Given the description of an element on the screen output the (x, y) to click on. 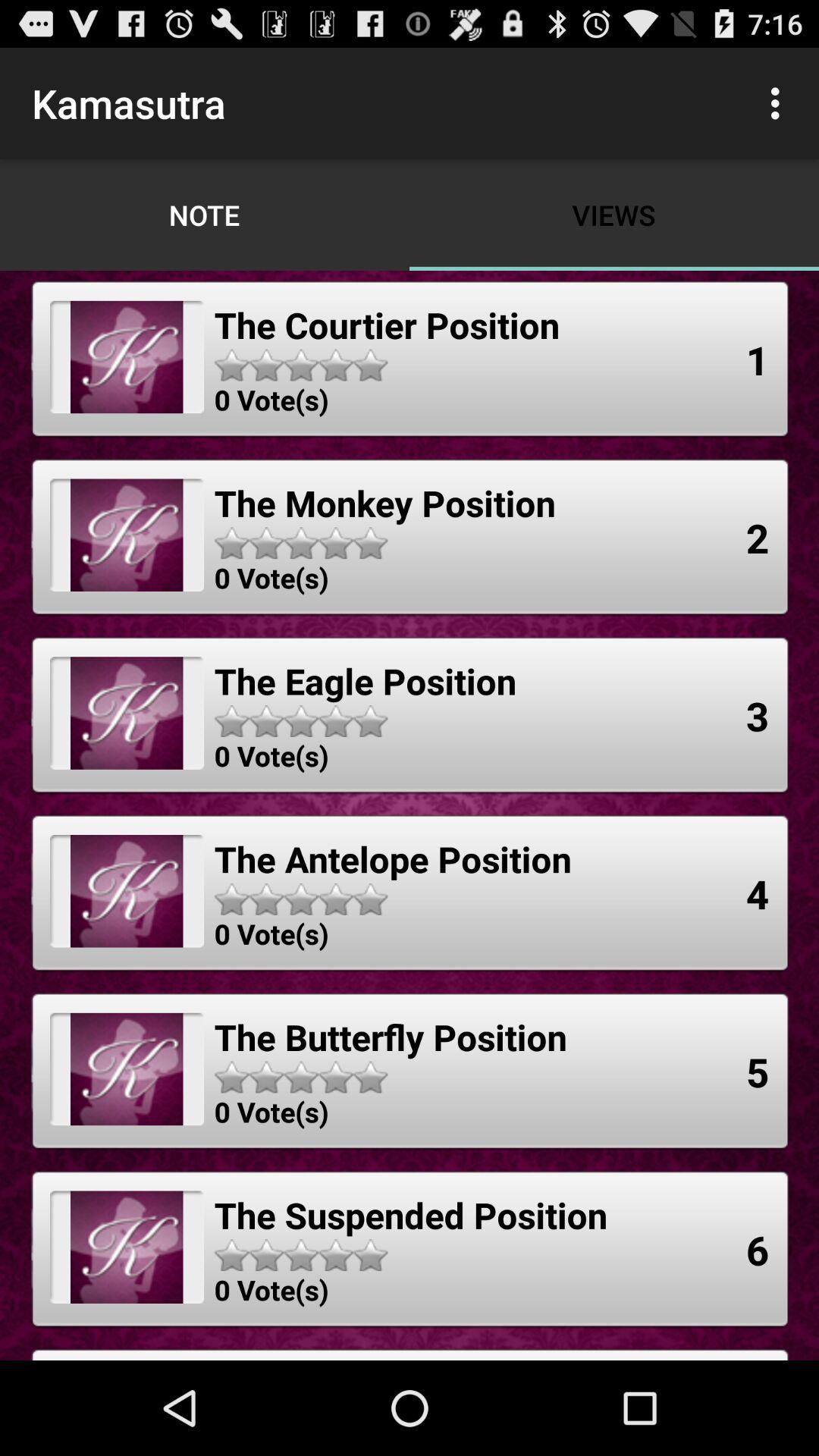
tap icon below the note app (386, 324)
